Given the description of an element on the screen output the (x, y) to click on. 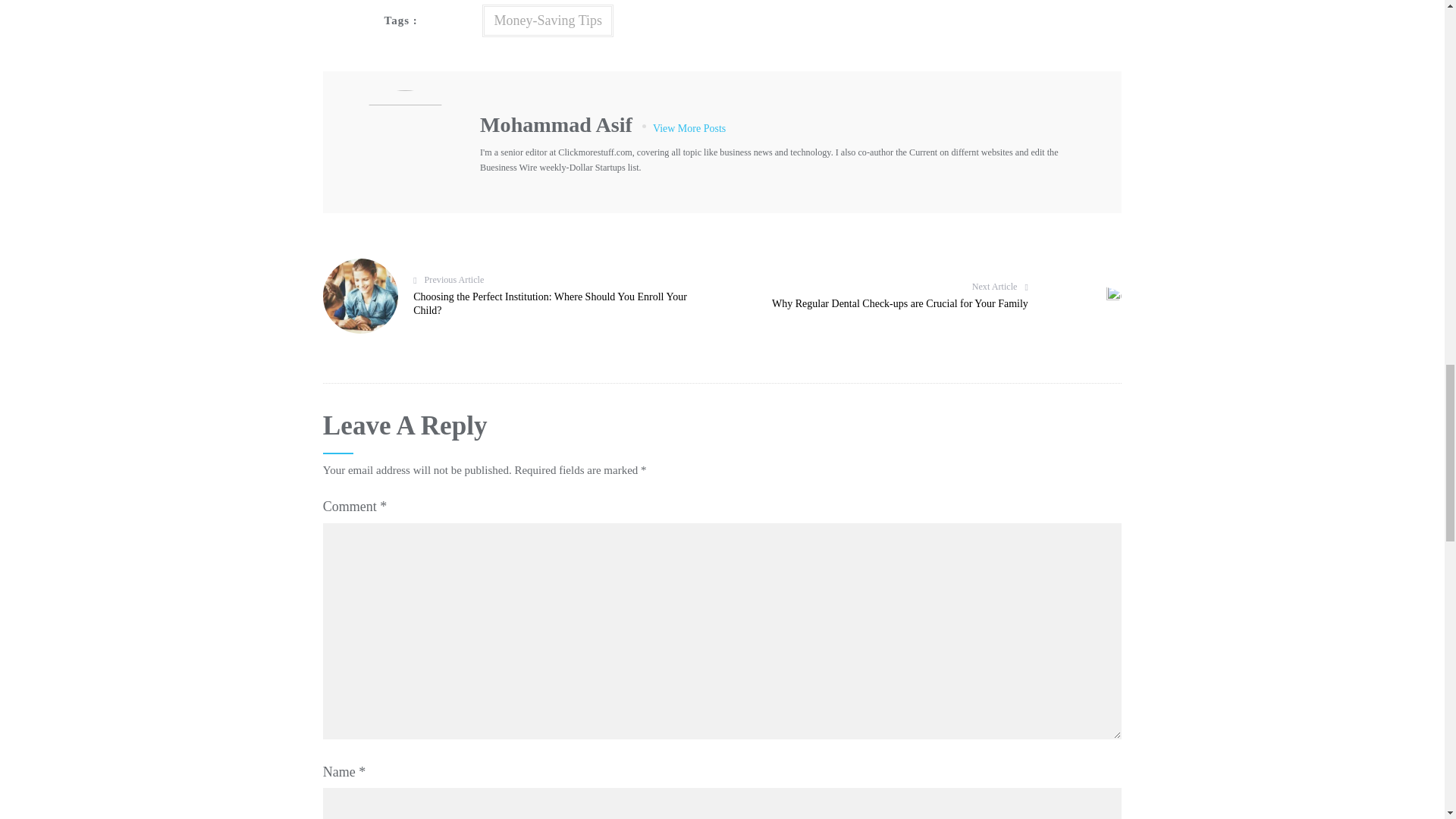
Money-Saving Tips (546, 20)
View More Posts (871, 128)
